Given the description of an element on the screen output the (x, y) to click on. 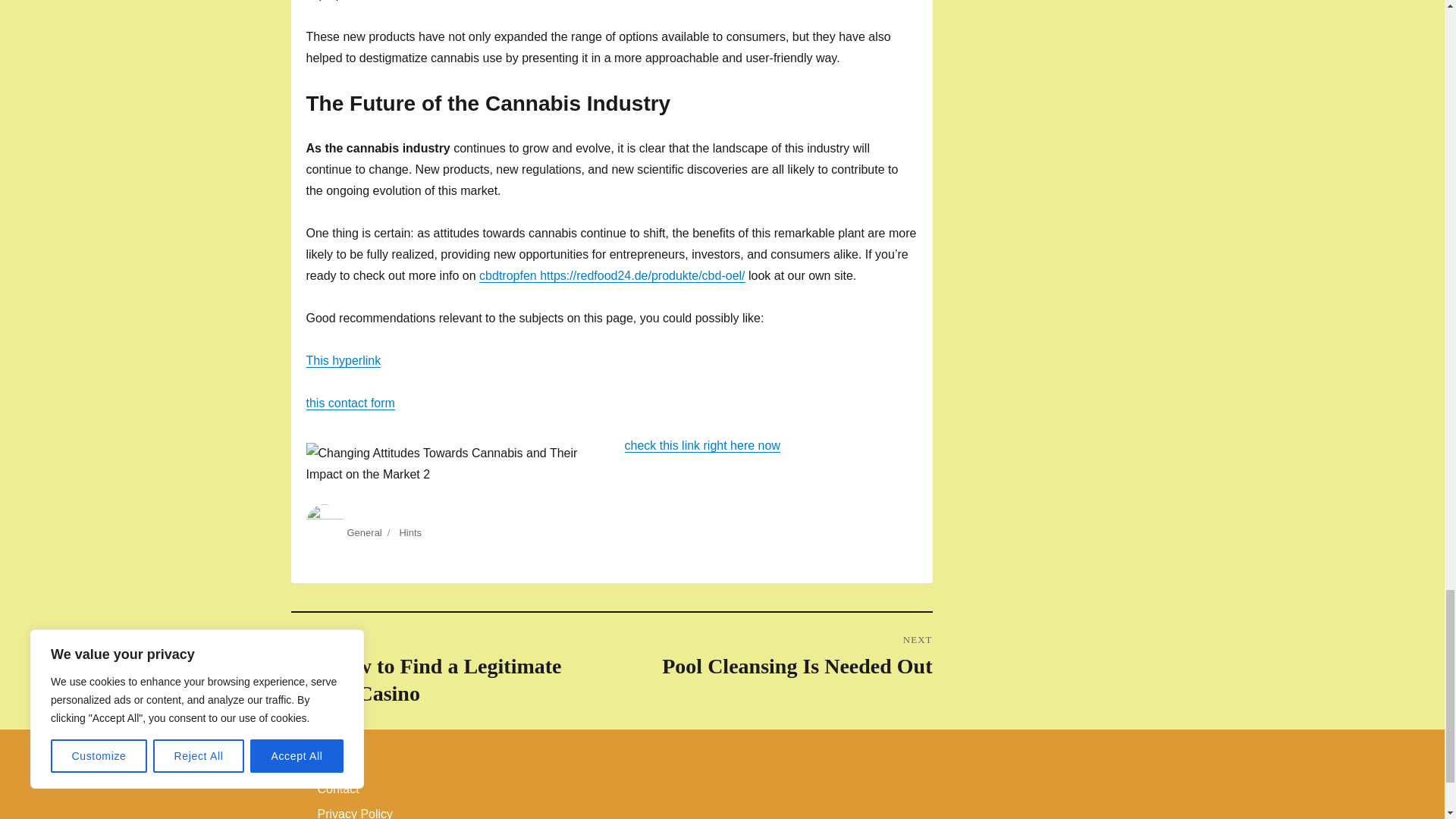
This hyperlink (343, 359)
Hints (410, 532)
this contact form (349, 402)
General (364, 532)
check this link right here now (771, 655)
